Given the description of an element on the screen output the (x, y) to click on. 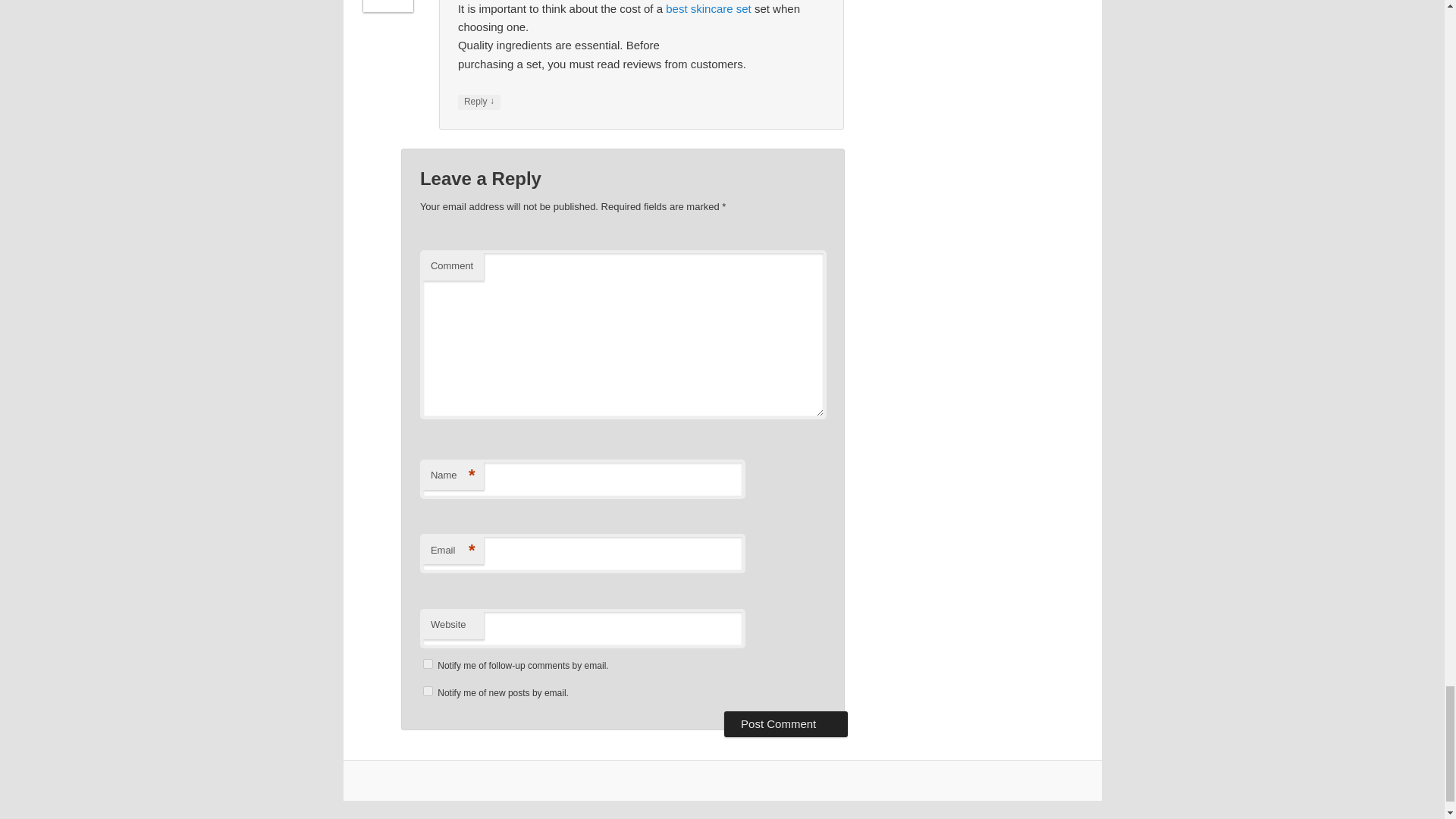
subscribe (427, 664)
best skincare set (708, 8)
Post Comment (785, 724)
subscribe (427, 691)
